Given the description of an element on the screen output the (x, y) to click on. 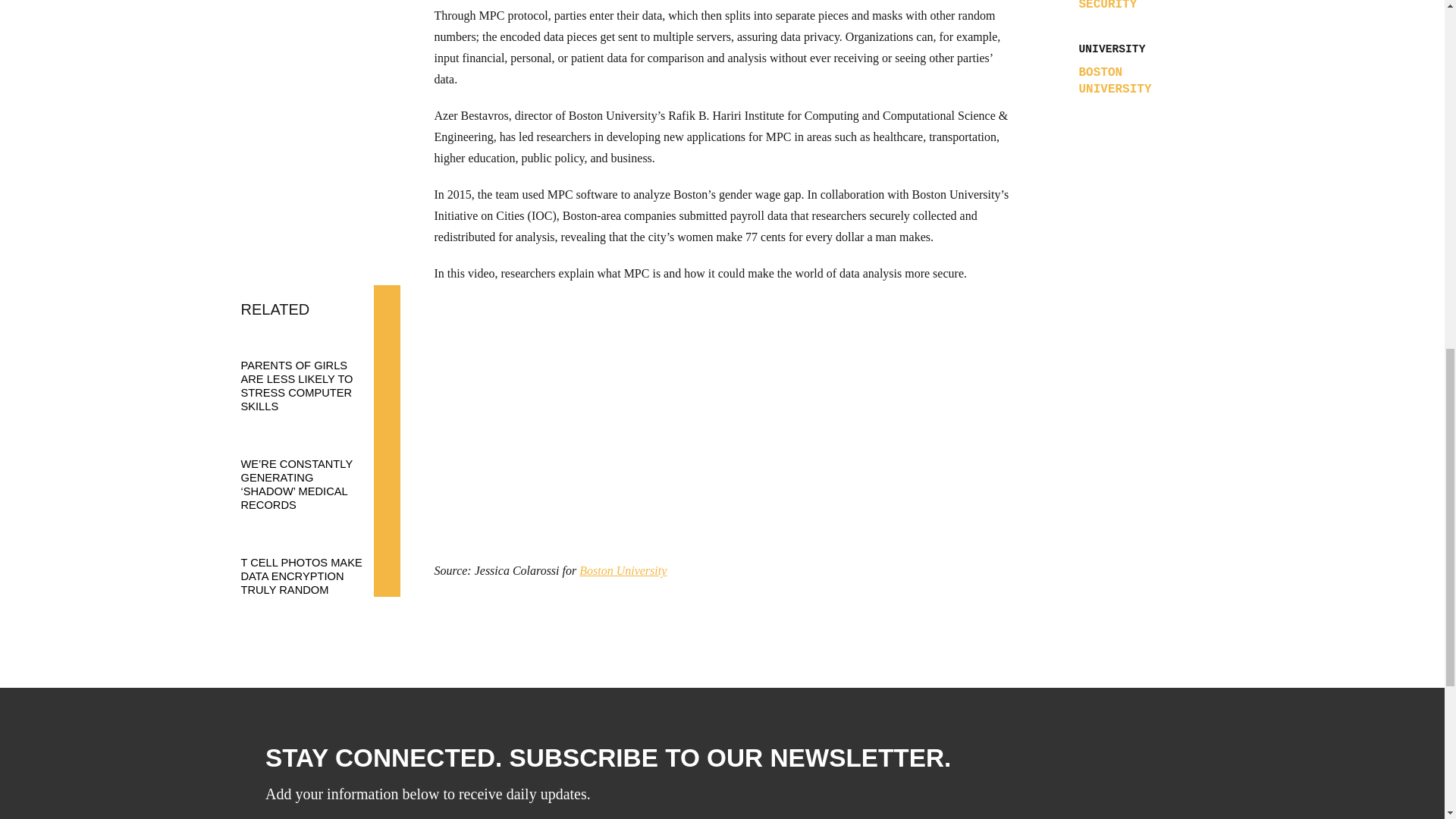
BOSTON UNIVERSITY (1135, 80)
Parents of girls are less likely to stress computer skills (313, 371)
SECURITY (1107, 5)
